Given the description of an element on the screen output the (x, y) to click on. 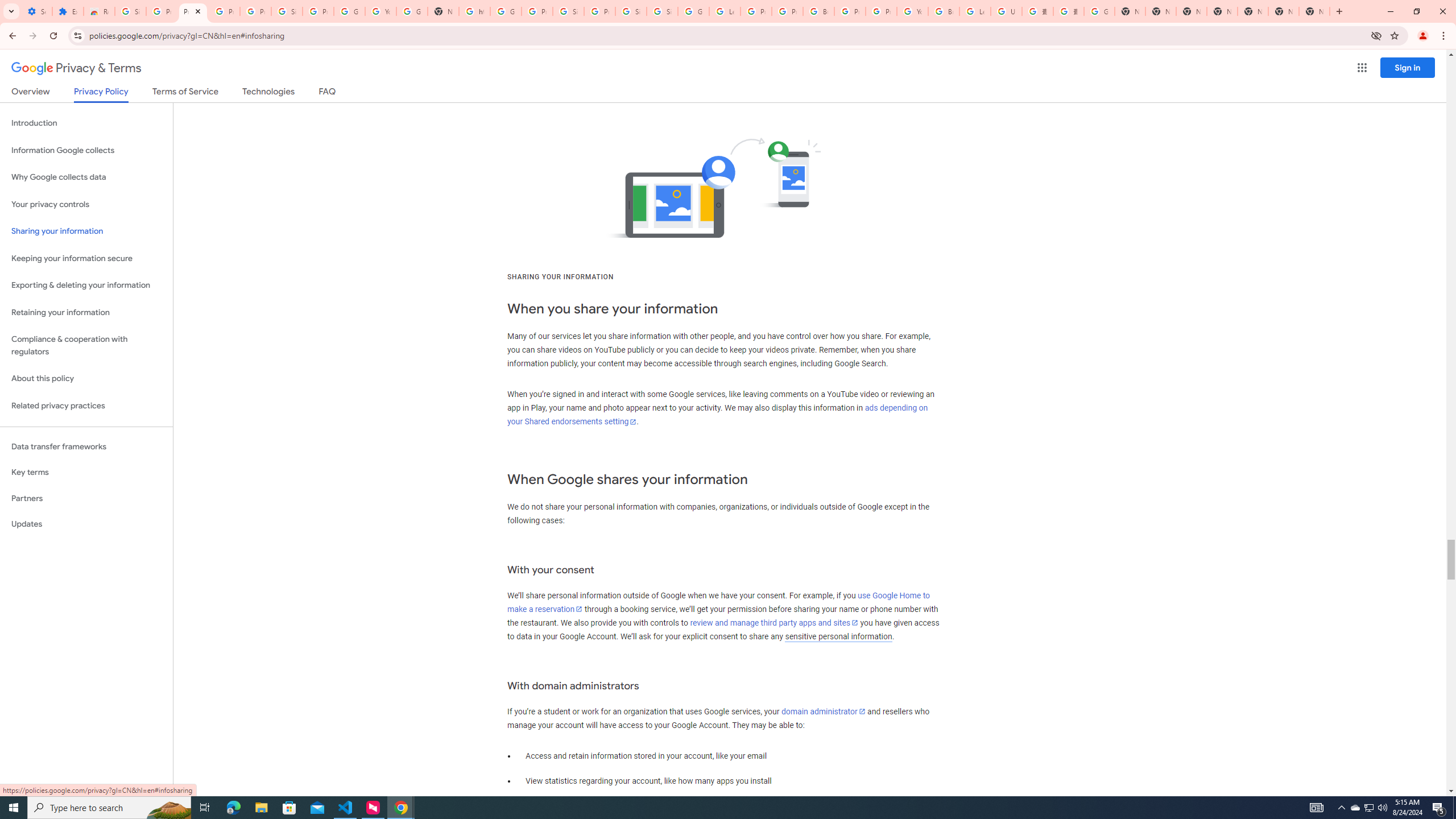
New Tab (1222, 11)
Sign in - Google Accounts (662, 11)
